Given the description of an element on the screen output the (x, y) to click on. 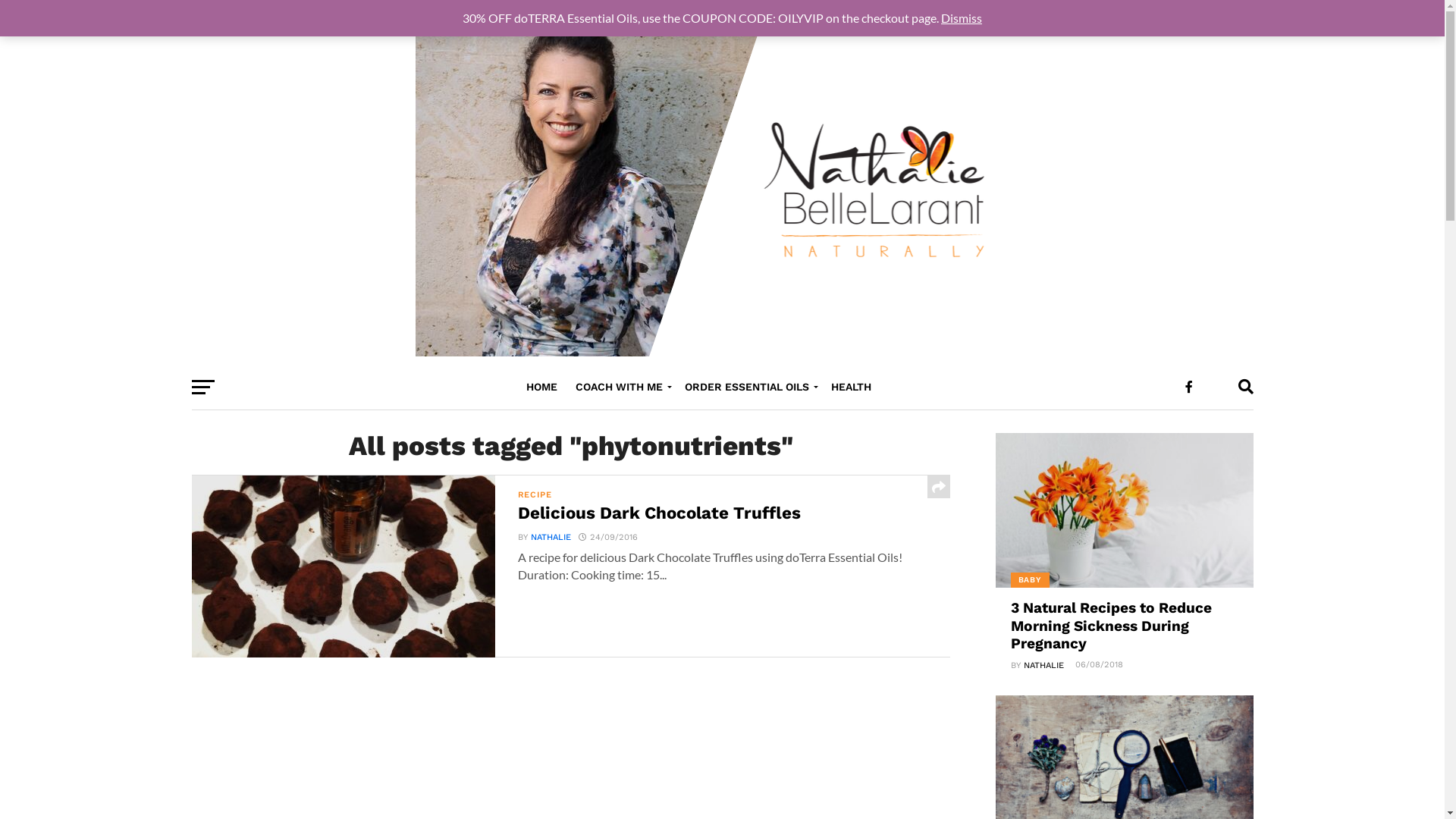
NATHALIE Element type: text (1043, 665)
Dismiss Element type: text (961, 17)
HEALTH Element type: text (851, 387)
HOME Element type: text (541, 387)
COACH WITH ME Element type: text (619, 387)
NATHALIE Element type: text (550, 537)
ORDER ESSENTIAL OILS Element type: text (747, 387)
